Given the description of an element on the screen output the (x, y) to click on. 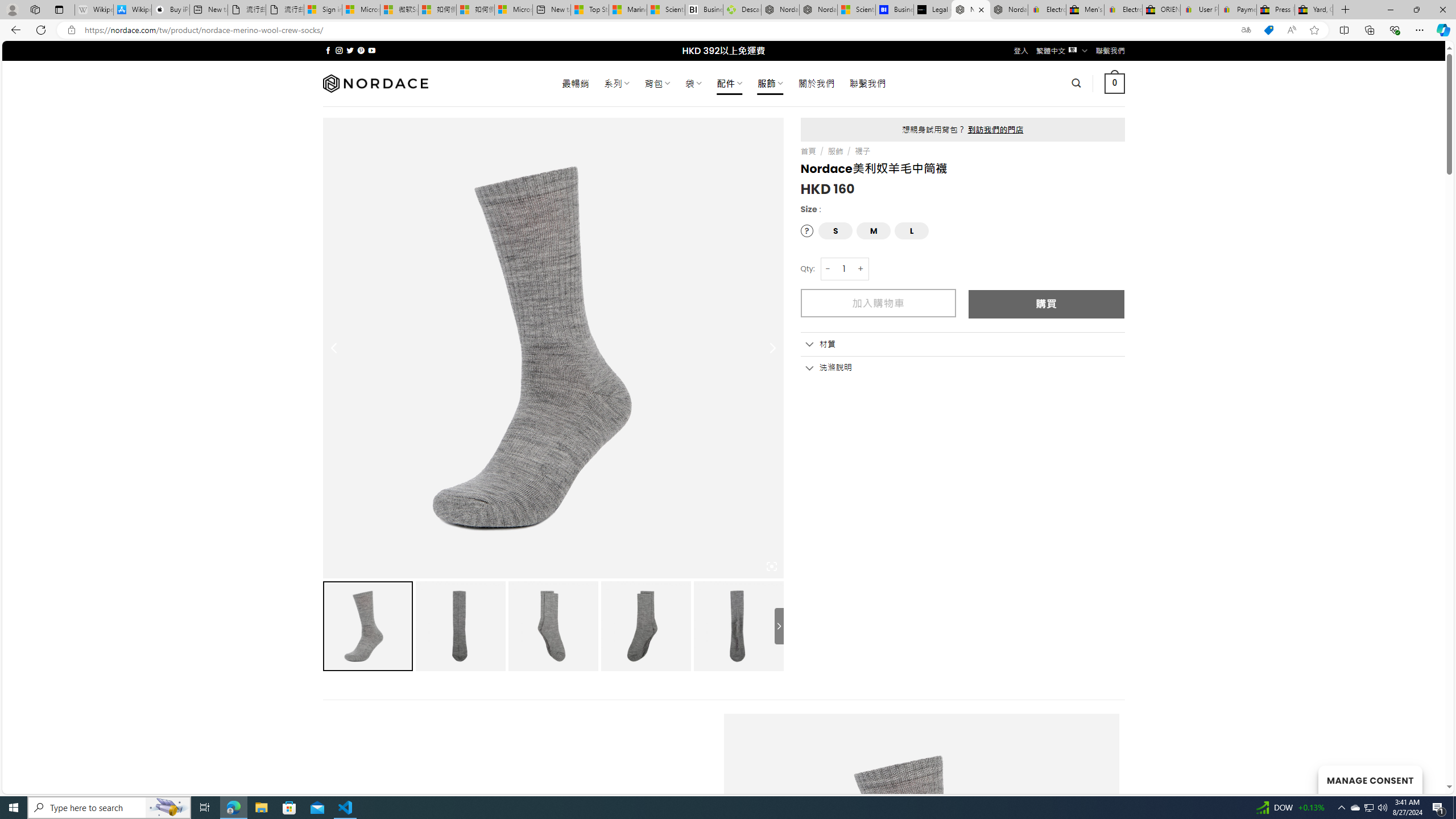
Class: iconic-woothumbs-fullscreen (771, 566)
User Privacy Notice | eBay (1198, 9)
Microsoft account | Account Checkup (513, 9)
Nordace - Summer Adventures 2024 (780, 9)
Yard, Garden & Outdoor Living (1314, 9)
Follow on Facebook (327, 50)
Marine life - MSN (628, 9)
